Given the description of an element on the screen output the (x, y) to click on. 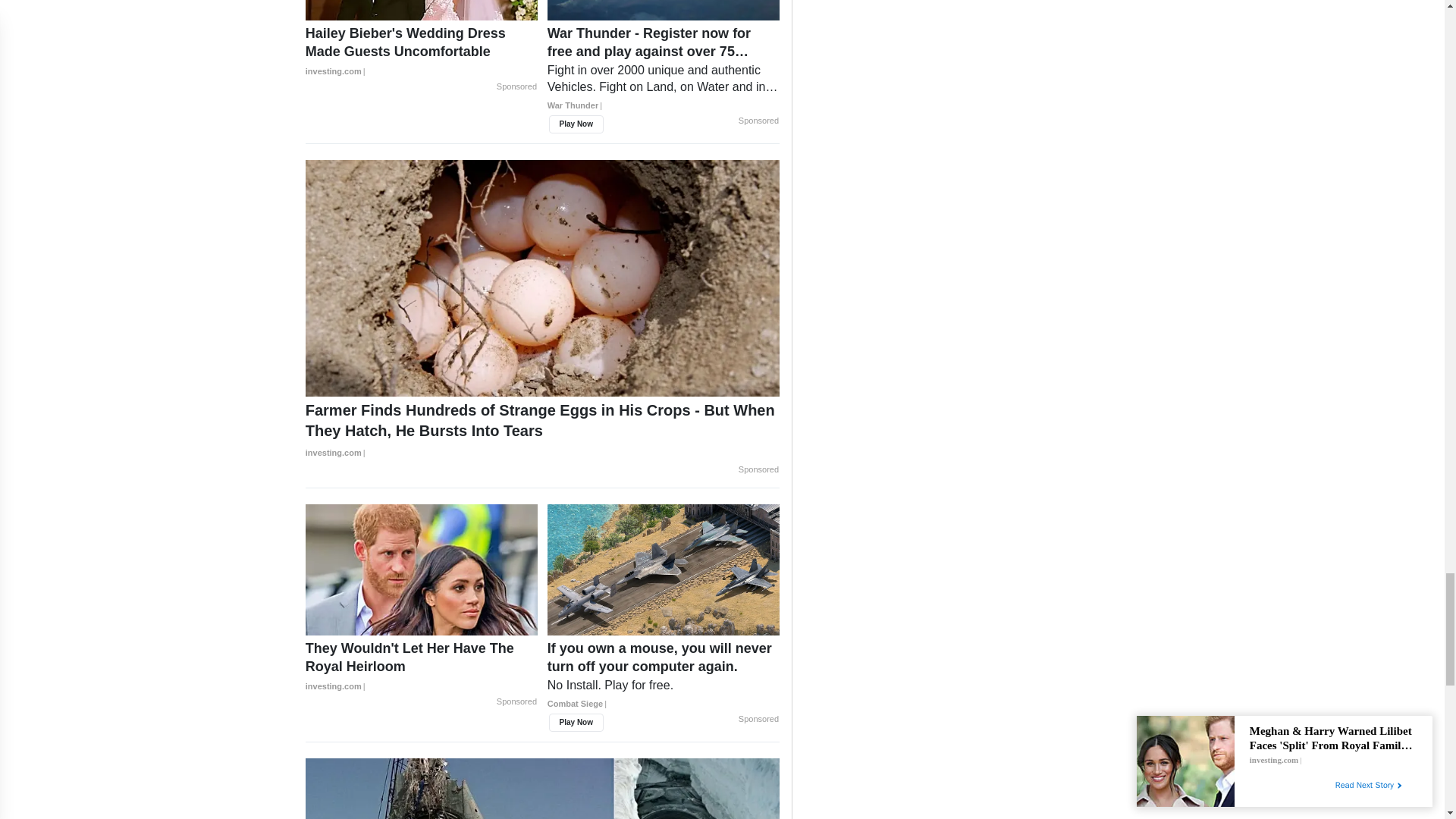
Hailey Bieber's Wedding Dress Made Guests Uncomfortable (421, 9)
Hailey Bieber's Wedding Dress Made Guests Uncomfortable (421, 52)
